Given the description of an element on the screen output the (x, y) to click on. 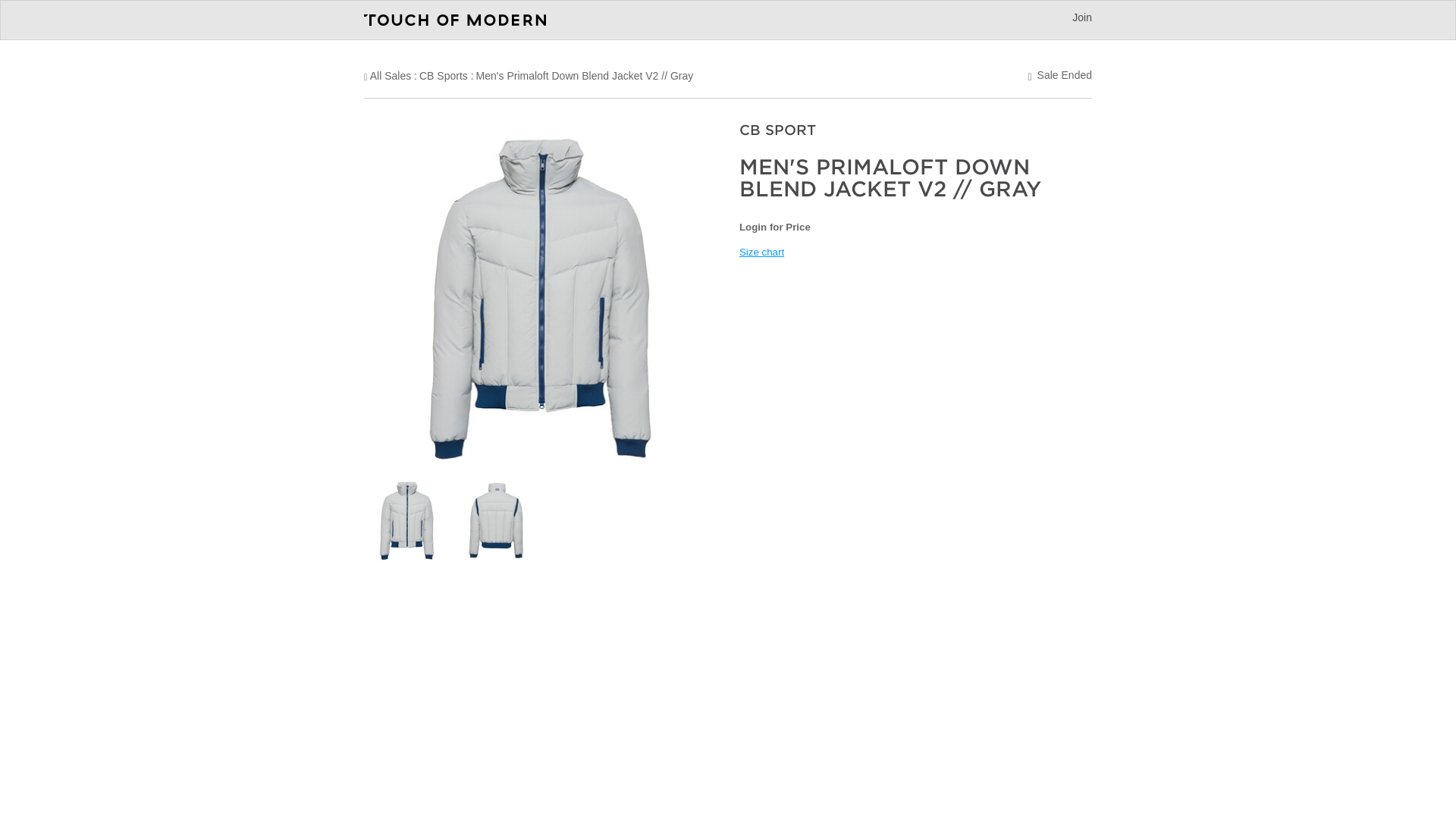
Join (1081, 17)
CB Sports (443, 75)
All Sales (389, 75)
CB Sports (443, 75)
Size chart (761, 251)
All Sales (389, 75)
